Given the description of an element on the screen output the (x, y) to click on. 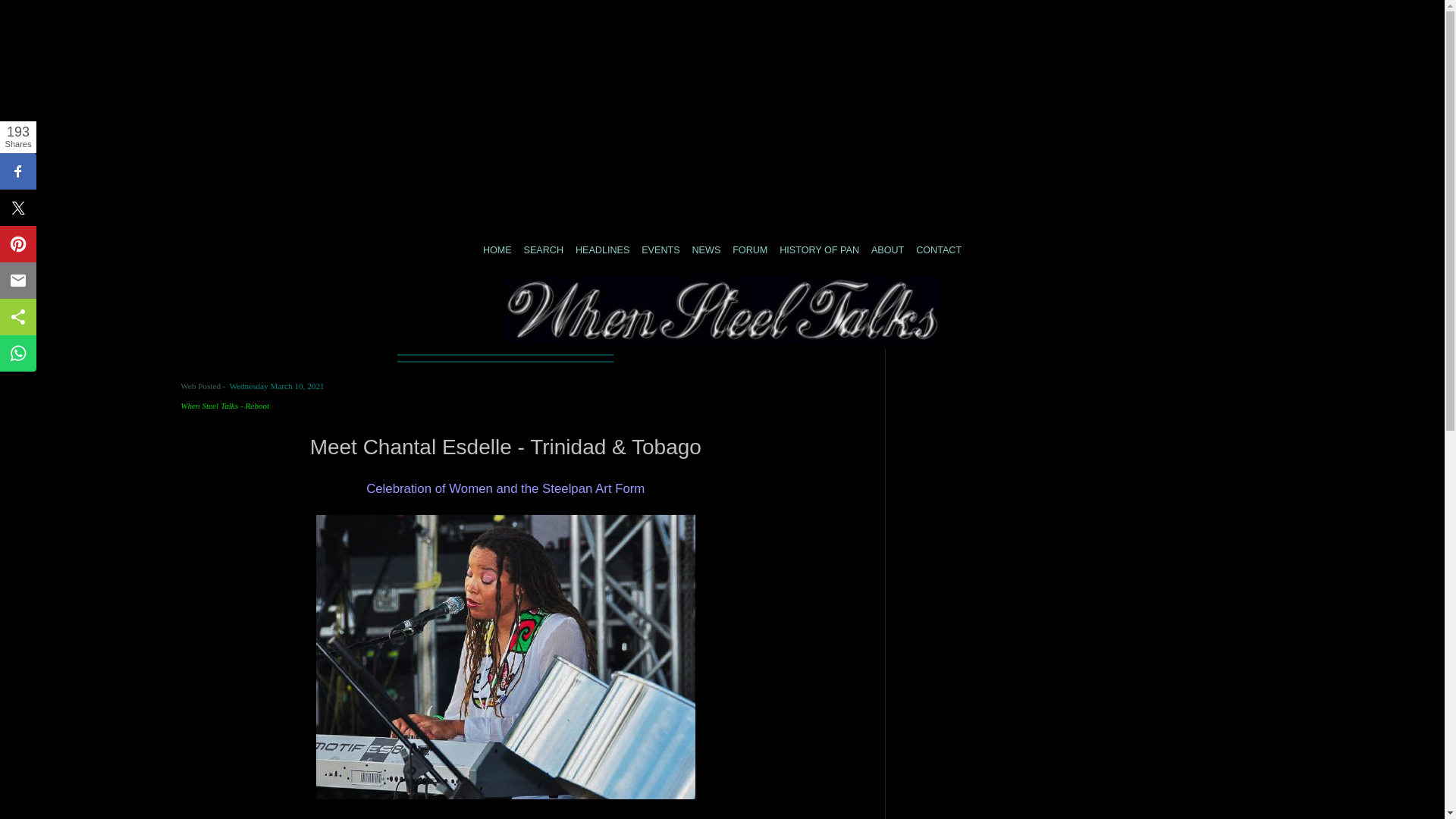
HISTORY OF PAN (818, 249)
EVENTS (660, 249)
NEWS (706, 249)
CONTACT (938, 249)
HOME (497, 249)
SEARCH (543, 249)
ABOUT (887, 249)
HEADLINES (601, 249)
FORUM (749, 249)
